Given the description of an element on the screen output the (x, y) to click on. 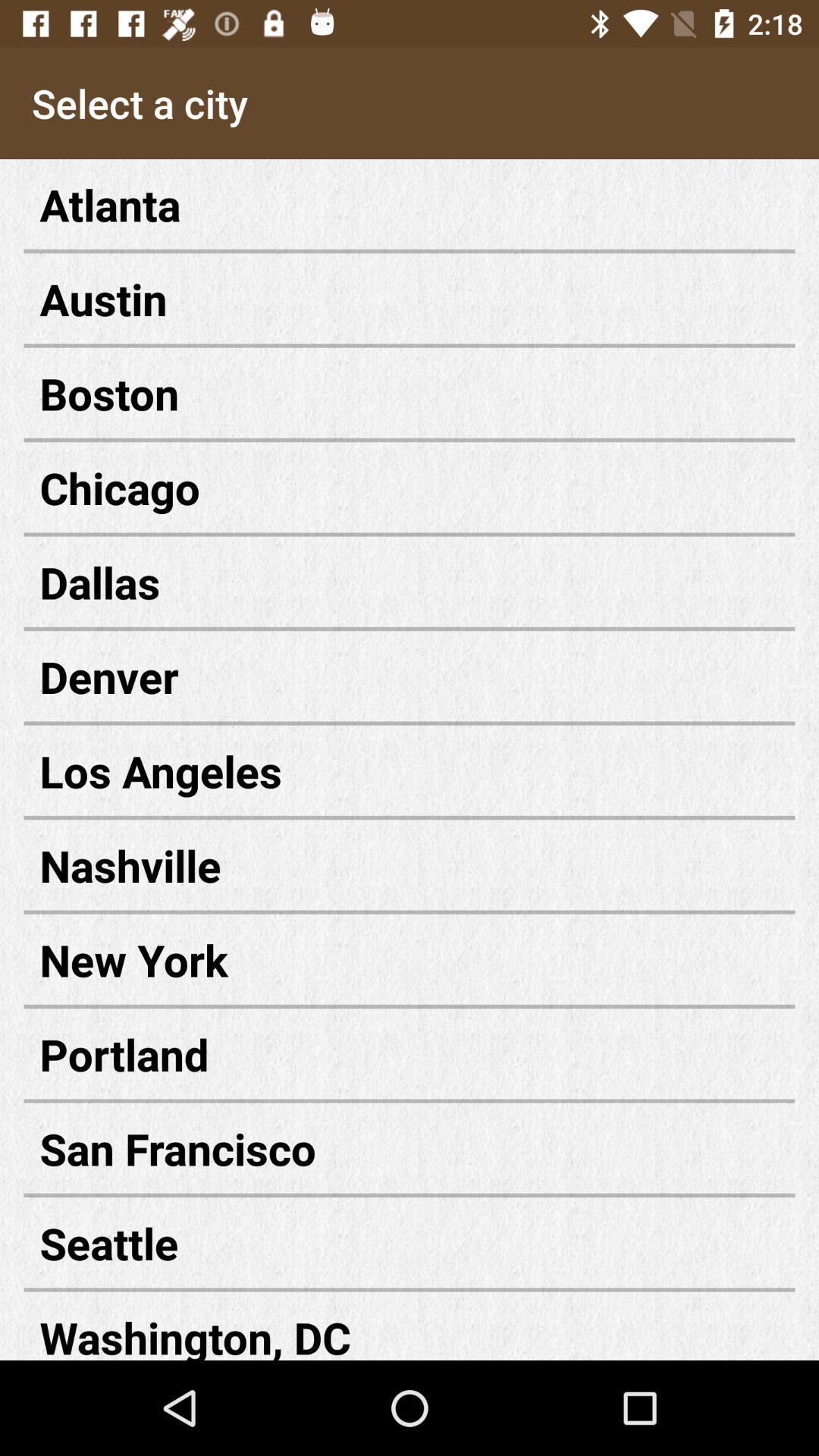
open the icon below the boston (409, 487)
